Given the description of an element on the screen output the (x, y) to click on. 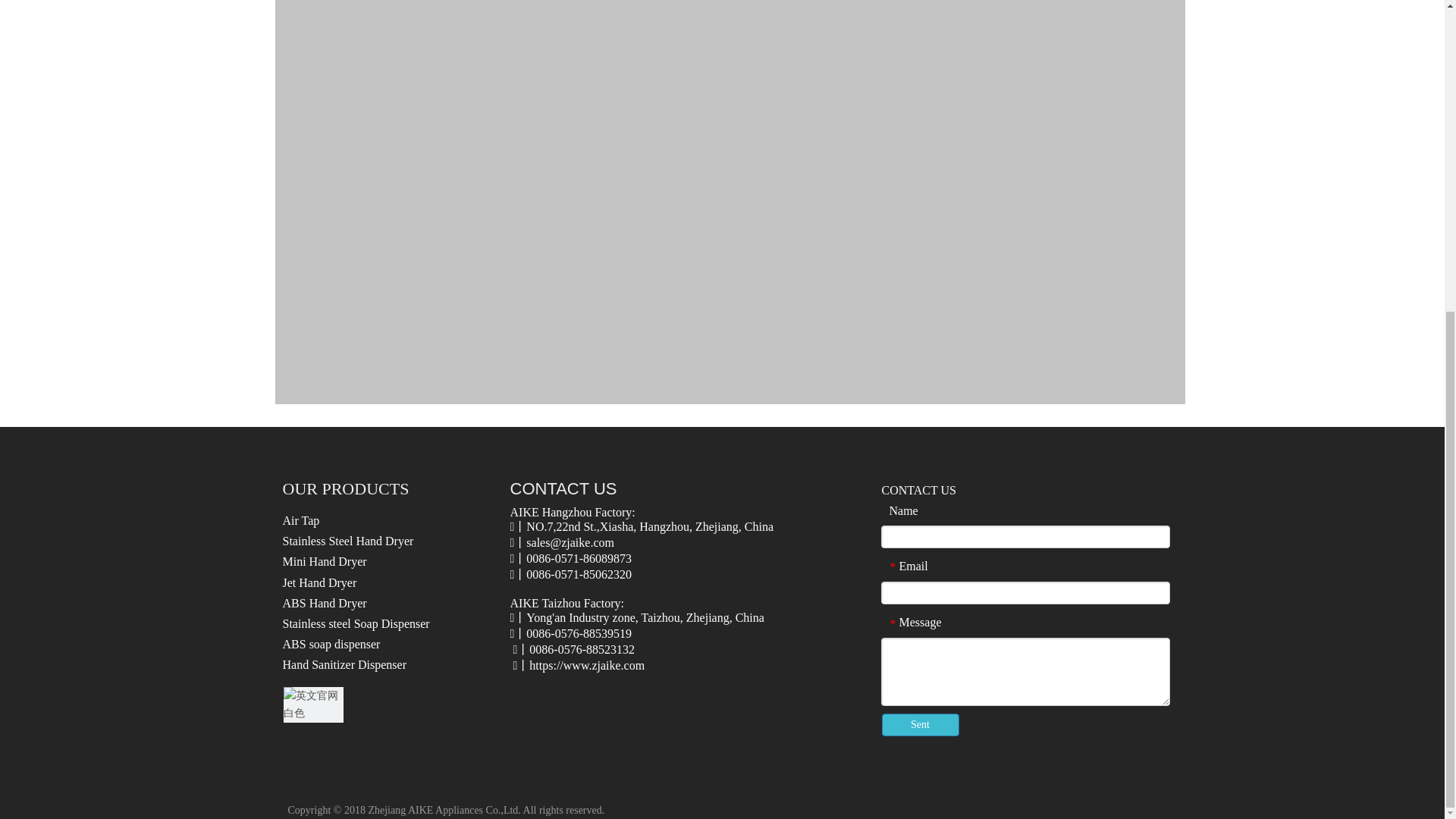
Stainless Steel Hand Dryer (347, 540)
Mini Hand Dryer (324, 561)
Air Tap (300, 520)
